Given the description of an element on the screen output the (x, y) to click on. 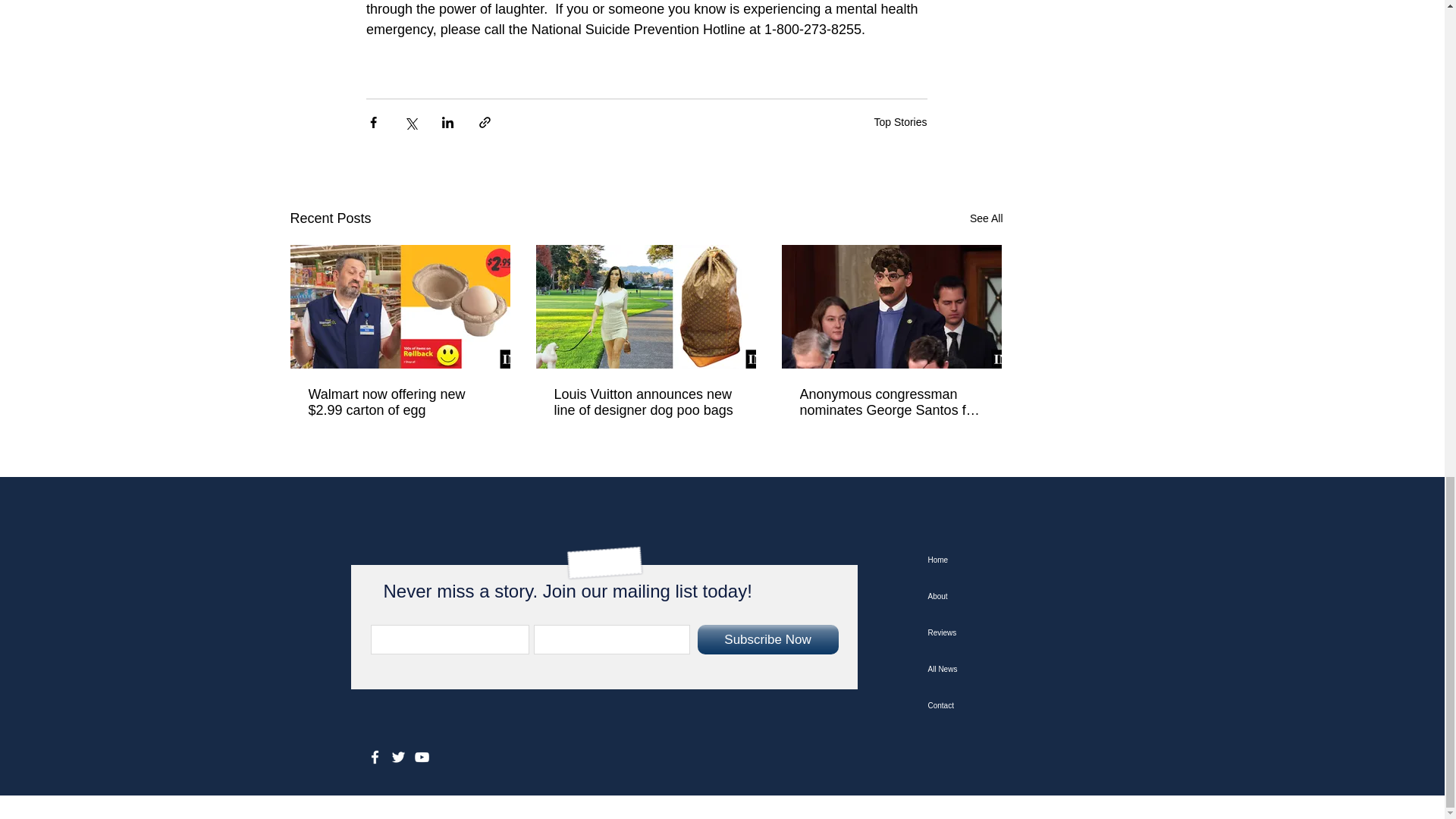
All News (1002, 669)
Reviews (1002, 633)
Home (1002, 560)
Contact (1002, 705)
See All (986, 219)
Louis Vuitton announces new line of designer dog poo bags (644, 402)
Top Stories (899, 121)
About (1002, 596)
Subscribe Now (767, 639)
